Given the description of an element on the screen output the (x, y) to click on. 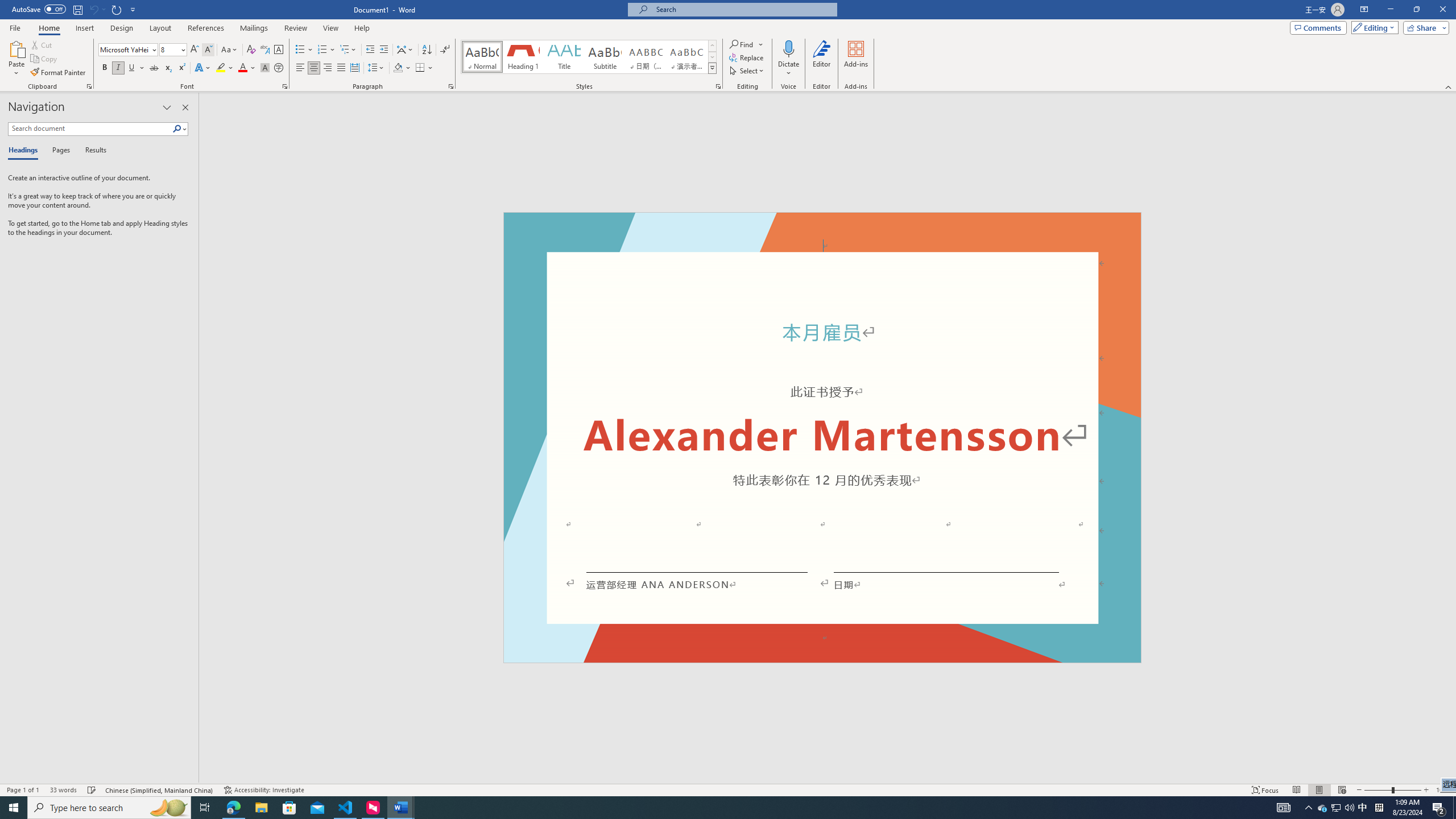
Justify (340, 67)
Font (124, 49)
Search (179, 128)
Print Layout (1318, 790)
Editor (821, 58)
Font... (285, 85)
Accessibility Checker Accessibility: Investigate (263, 790)
Text Effects and Typography (202, 67)
Help (361, 28)
Office Clipboard... (88, 85)
Phonetic Guide... (264, 49)
Italic (118, 67)
AutoSave (38, 9)
Row Down (711, 56)
